Given the description of an element on the screen output the (x, y) to click on. 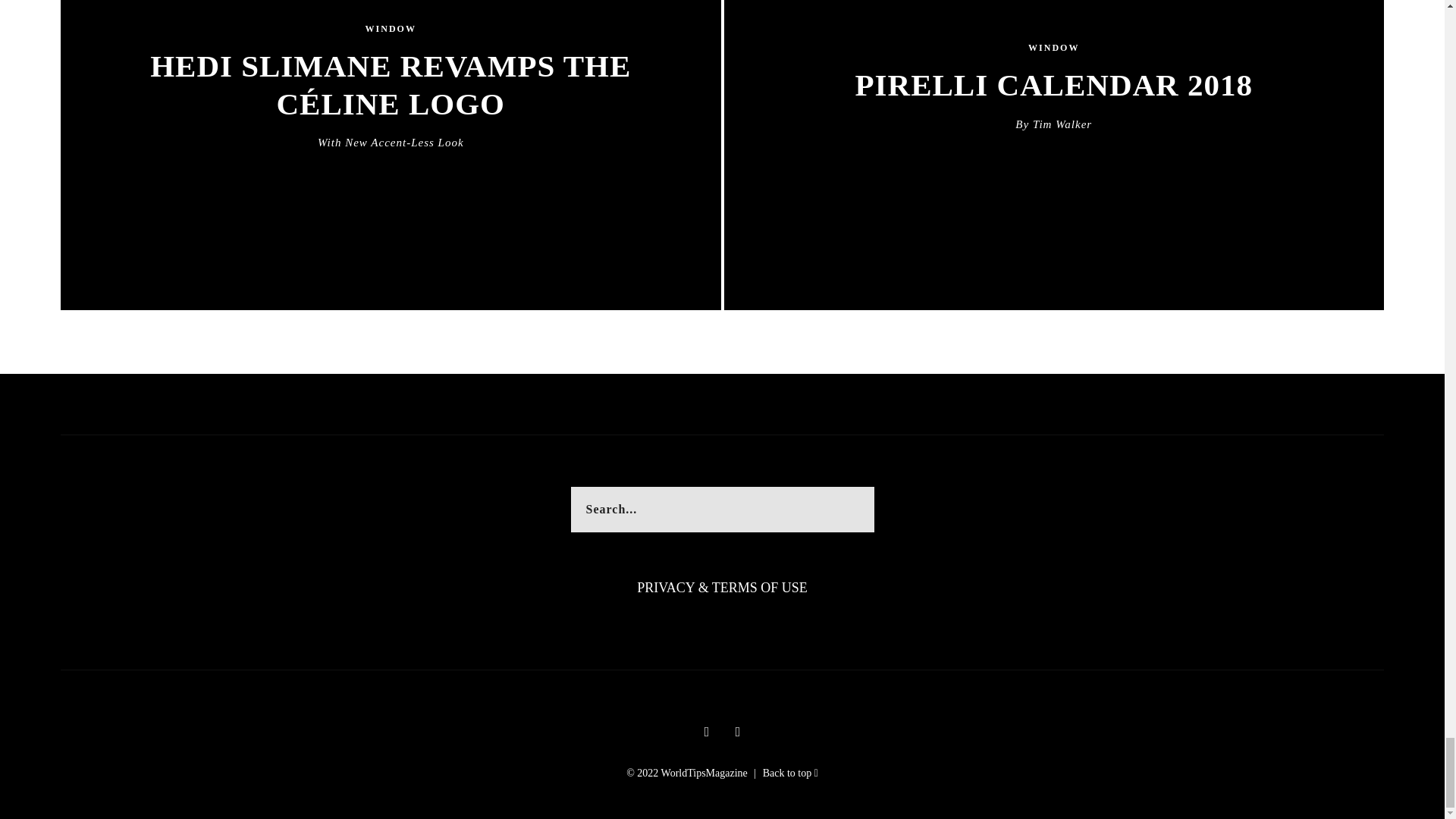
View all posts in window (390, 29)
View all posts in window (1052, 48)
WINDOW (390, 29)
